Given the description of an element on the screen output the (x, y) to click on. 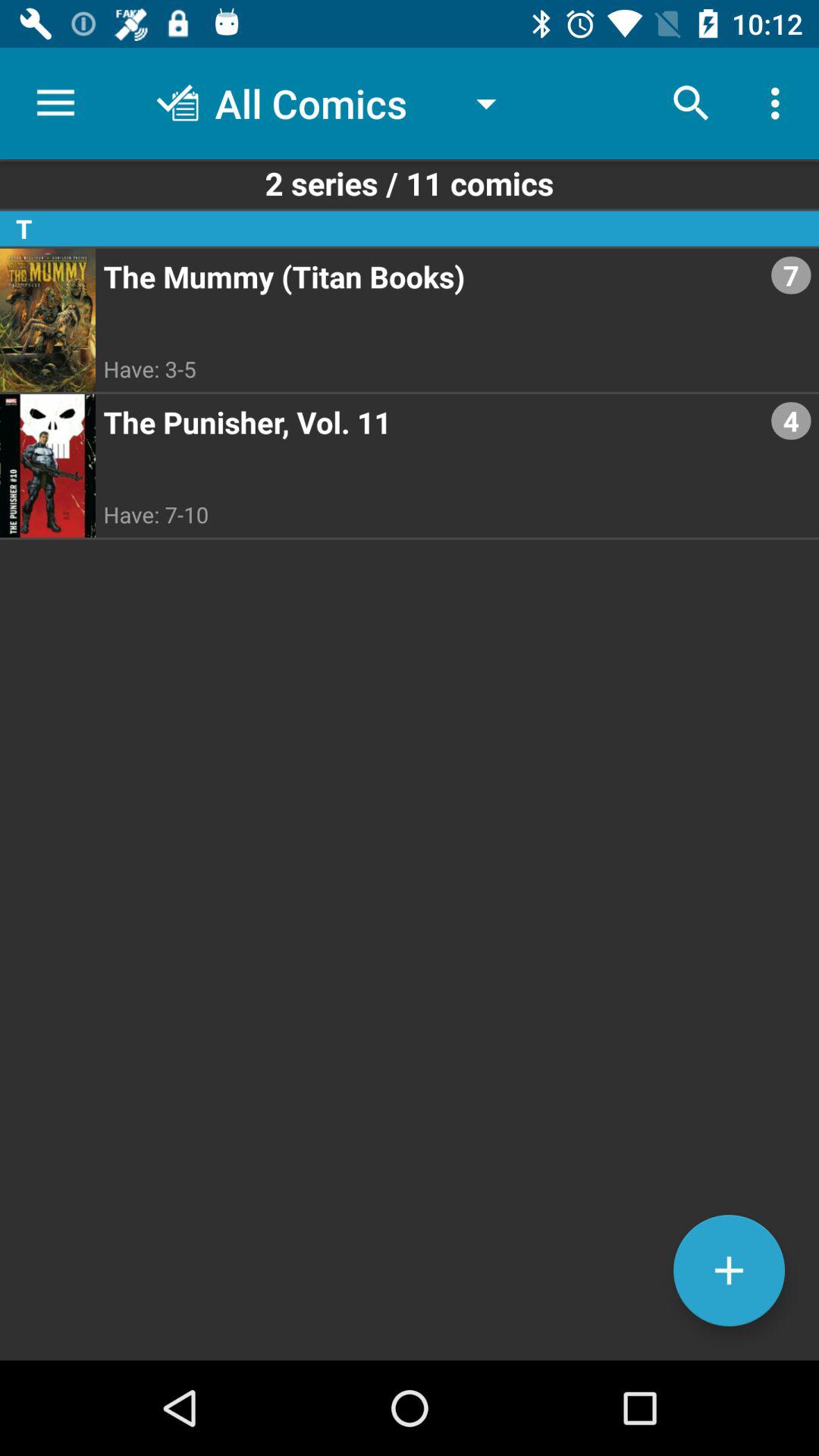
add a comic (728, 1270)
